Given the description of an element on the screen output the (x, y) to click on. 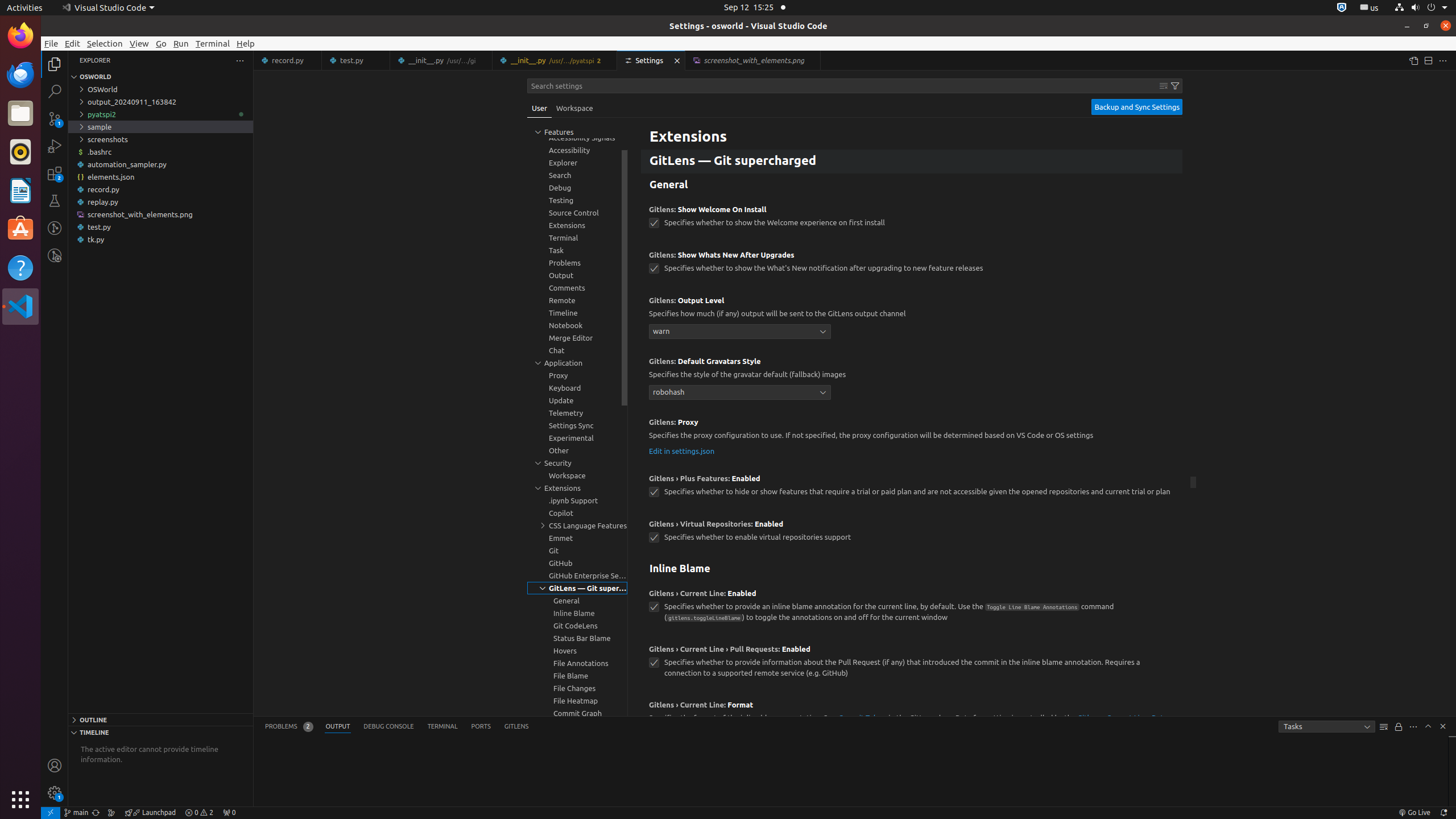
elements.json Element type: tree-item (160, 176)
Commit Graph, group Element type: tree-item (577, 712)
sample Element type: tree-item (160, 126)
remote Element type: push-button (50, 812)
Maximize Panel Size Element type: check-box (1427, 726)
